Given the description of an element on the screen output the (x, y) to click on. 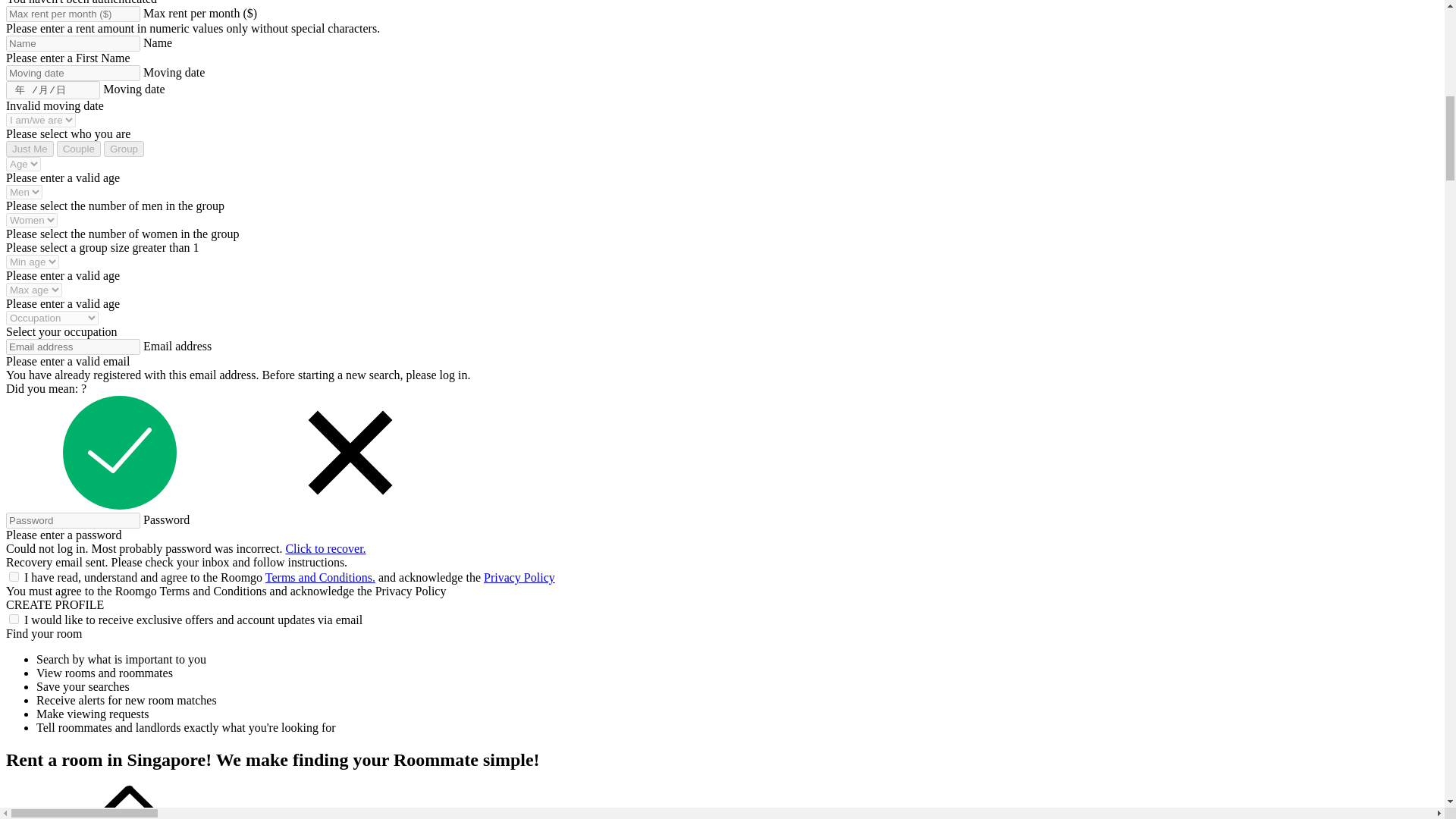
value (13, 619)
Group (123, 148)
Privacy Policy (518, 576)
Just Me (29, 148)
value (13, 576)
Click to recover. (325, 548)
Terms and Conditions. (319, 576)
Couple (78, 148)
